Given the description of an element on the screen output the (x, y) to click on. 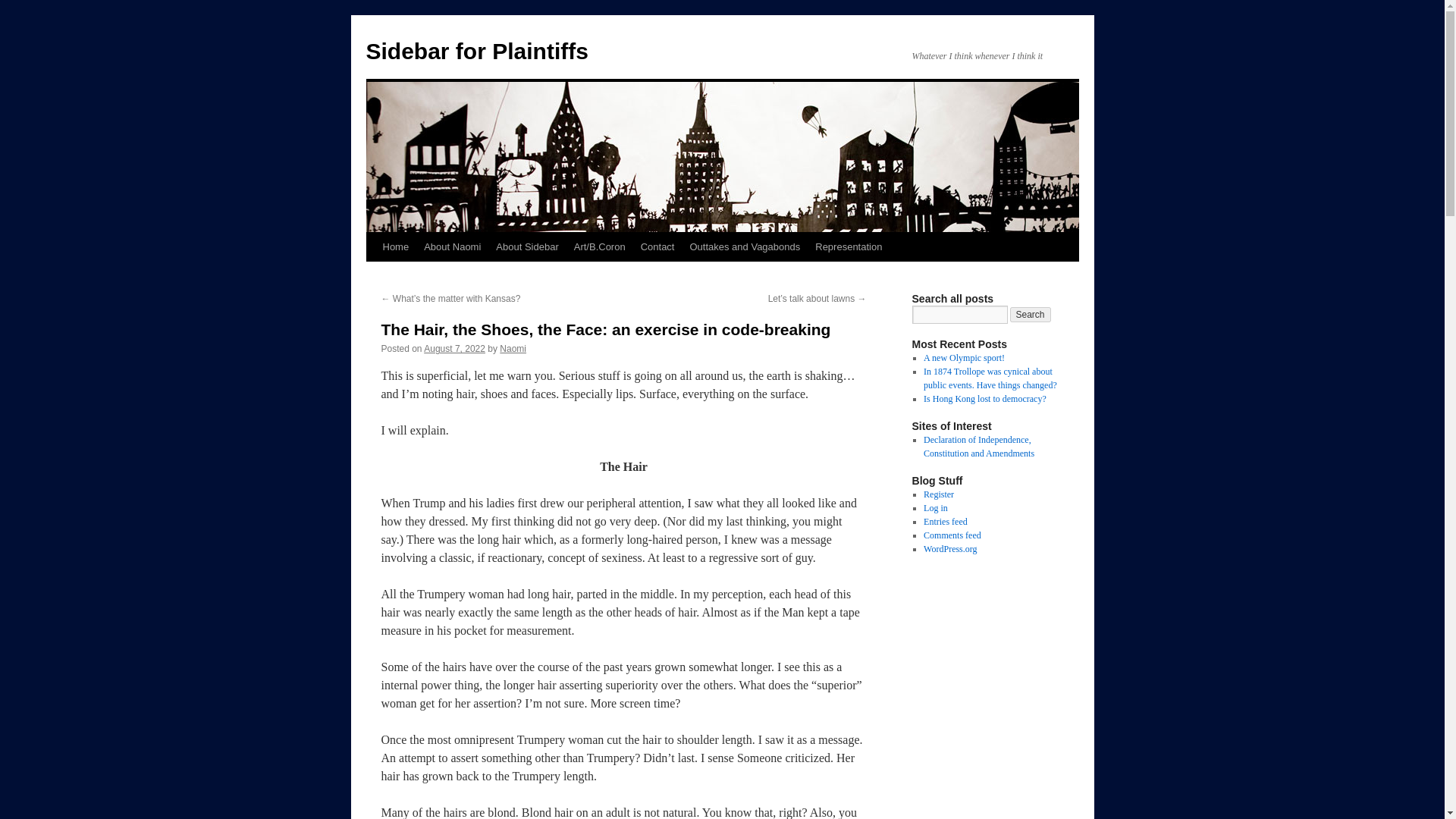
Contact (657, 246)
About Naomi (451, 246)
Representation (848, 246)
About Sidebar (526, 246)
View all posts by Naomi (512, 348)
August 7, 2022 (453, 348)
Sidebar for Plaintiffs (476, 50)
The entire text of the Declaration of Independence (978, 446)
4:17 pm (453, 348)
Naomi (512, 348)
Home (395, 246)
Outtakes and Vagabonds (744, 246)
Search (1030, 314)
